Given the description of an element on the screen output the (x, y) to click on. 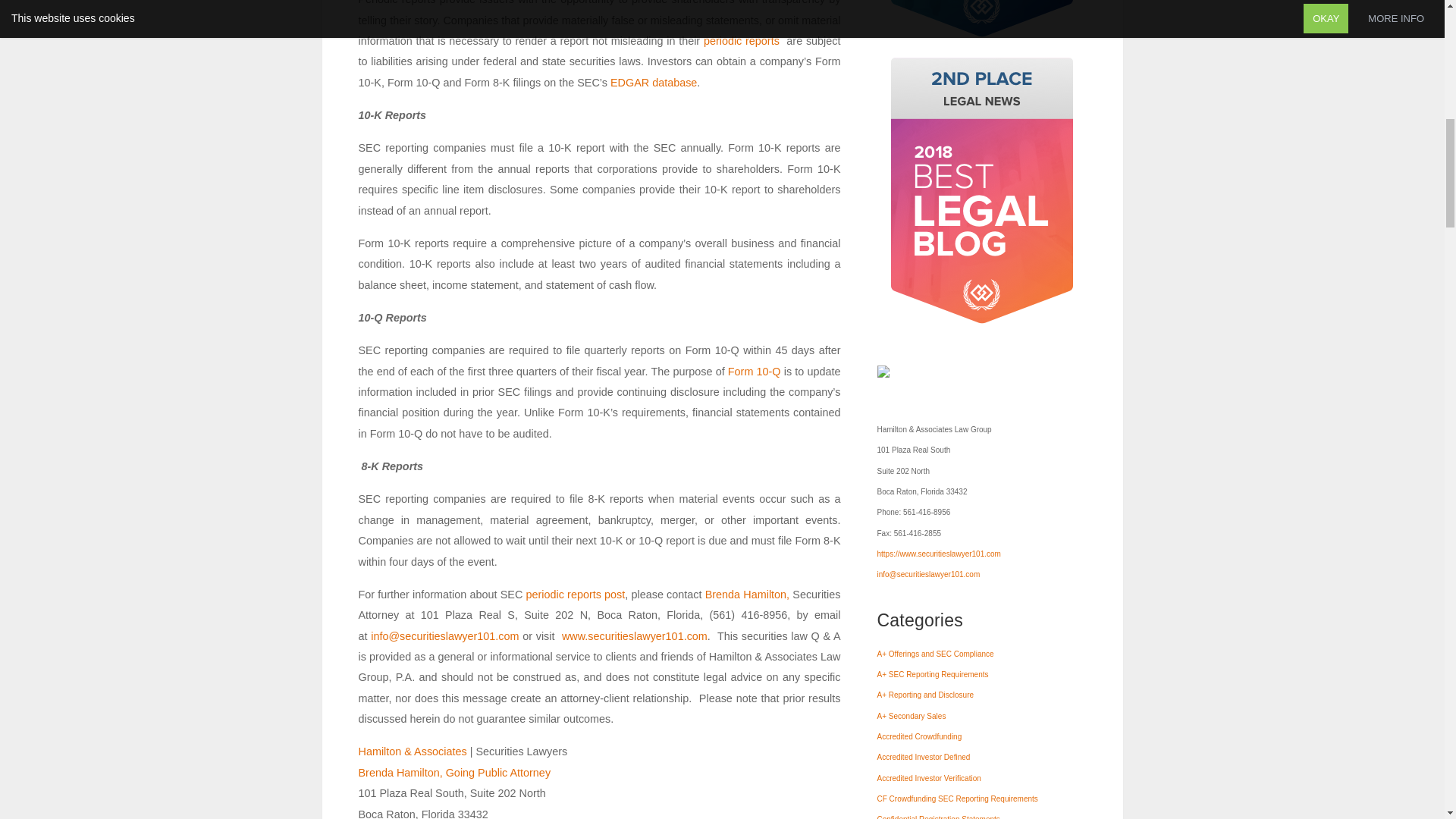
periodic reports (740, 40)
Form 10-Q (754, 371)
Brenda Hamilton, Going Public Attorney (454, 772)
Brenda Hamilton, (746, 594)
EDGAR database (653, 82)
www.securitieslawyer101.com (634, 635)
 periodic reports post (573, 594)
